Given the description of an element on the screen output the (x, y) to click on. 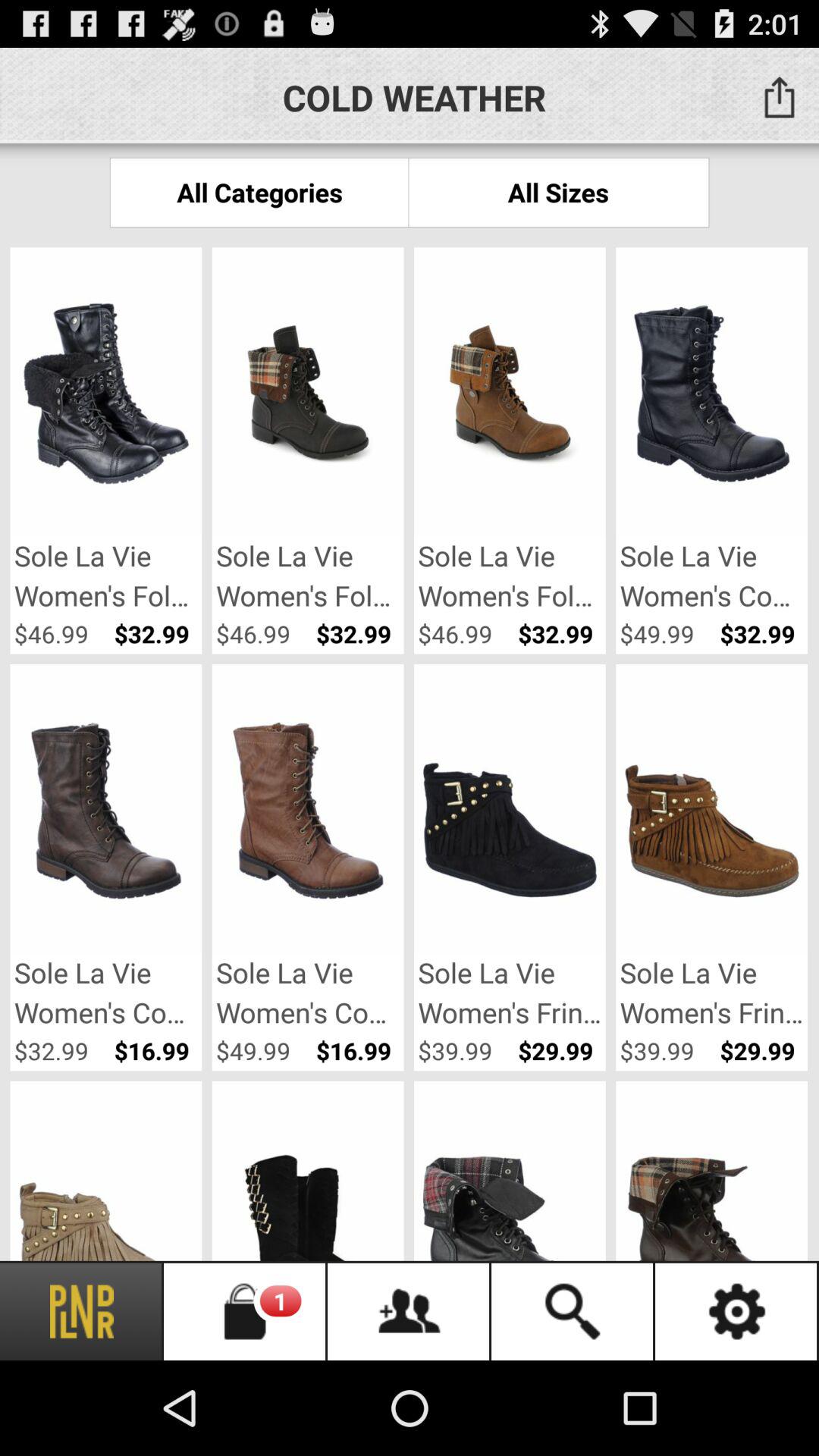
turn off the icon below the cold weather item (259, 192)
